Given the description of an element on the screen output the (x, y) to click on. 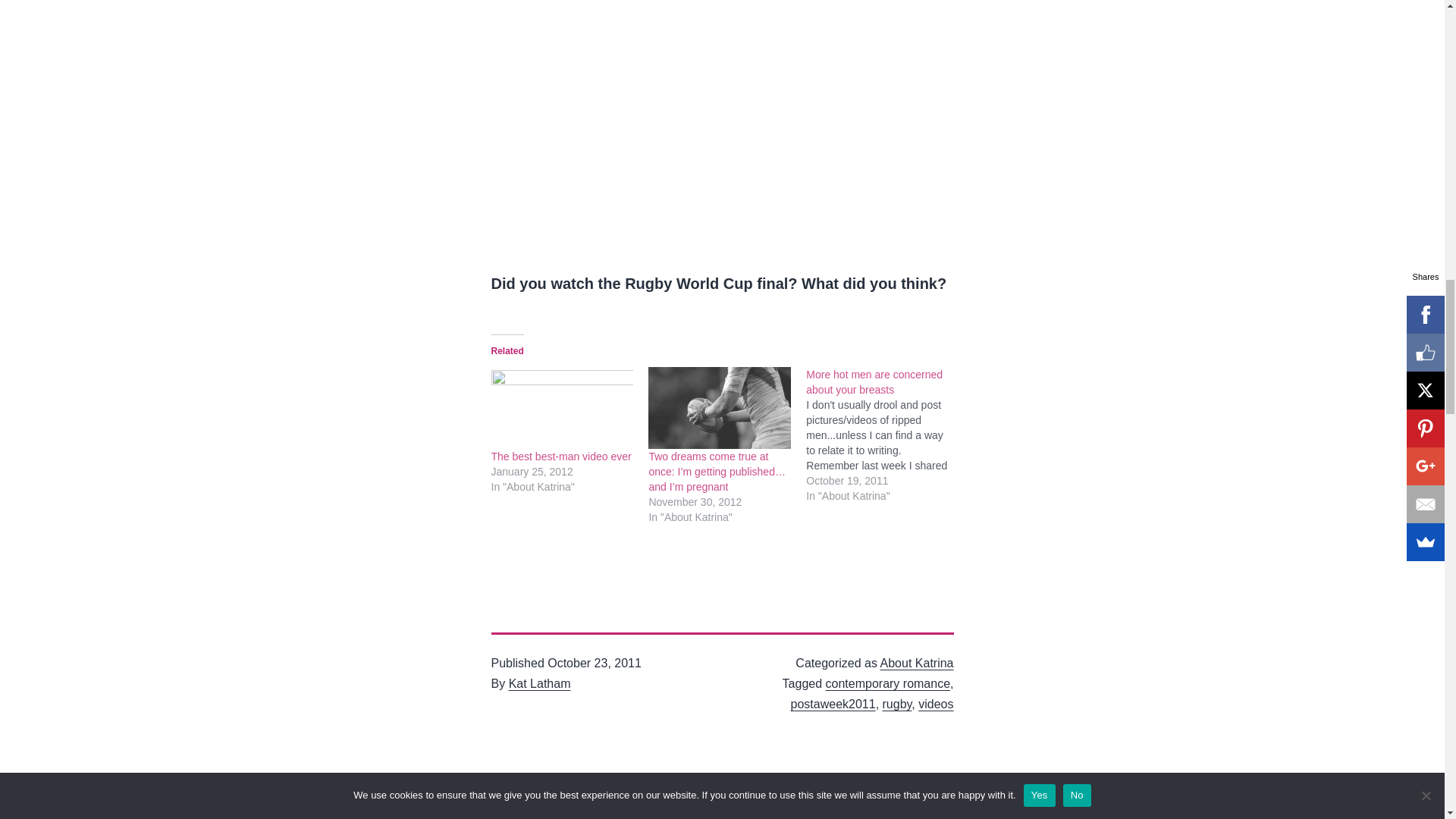
More hot men are concerned about your breasts (874, 381)
The best best-man video ever (561, 456)
The best best-man video ever (561, 456)
More hot men are concerned about your breasts (884, 434)
More hot men are concerned about your breasts (874, 381)
The best best-man video ever (562, 406)
Kat Latham (539, 683)
